Given the description of an element on the screen output the (x, y) to click on. 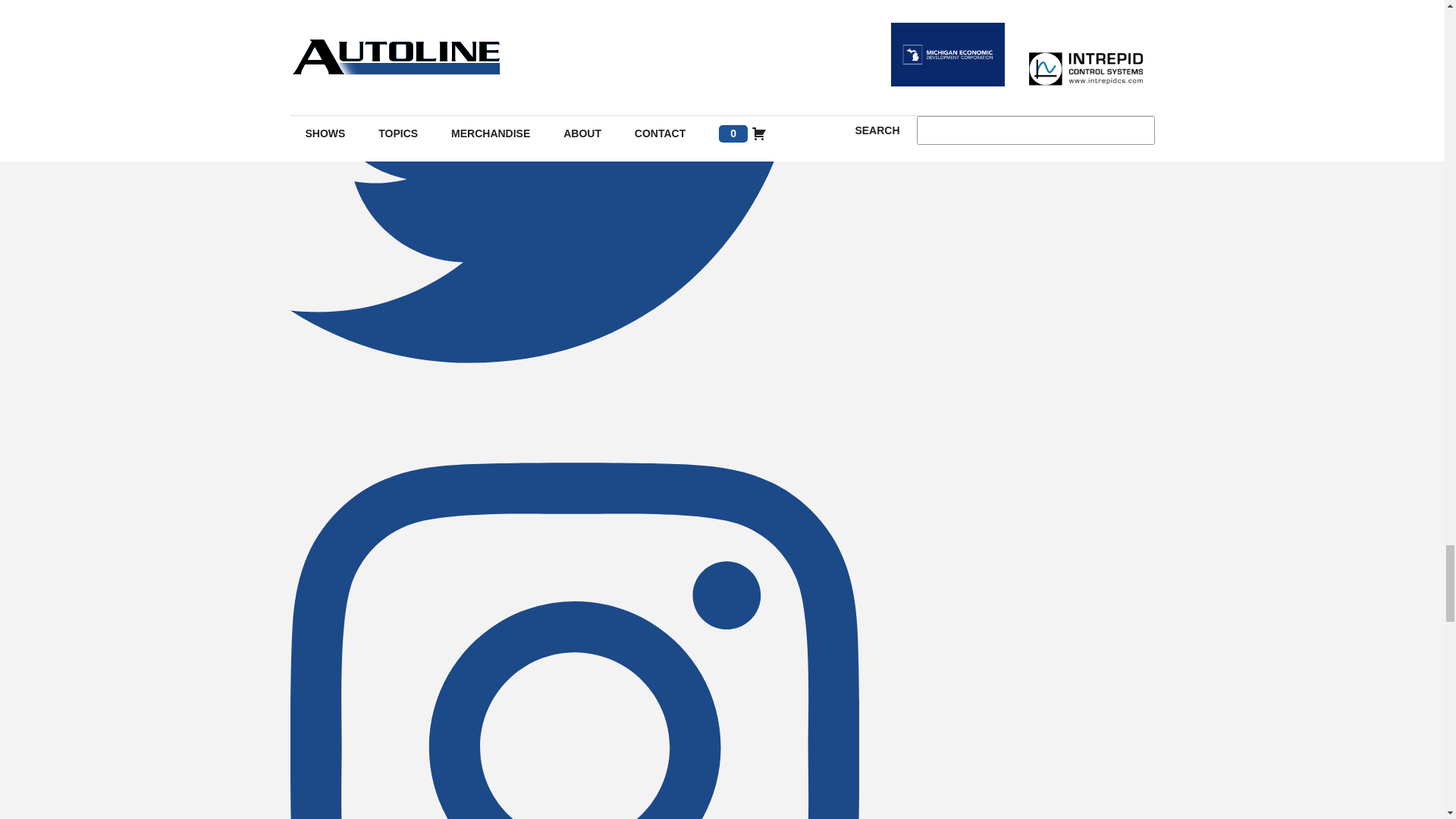
Twitter (574, 411)
